Given the description of an element on the screen output the (x, y) to click on. 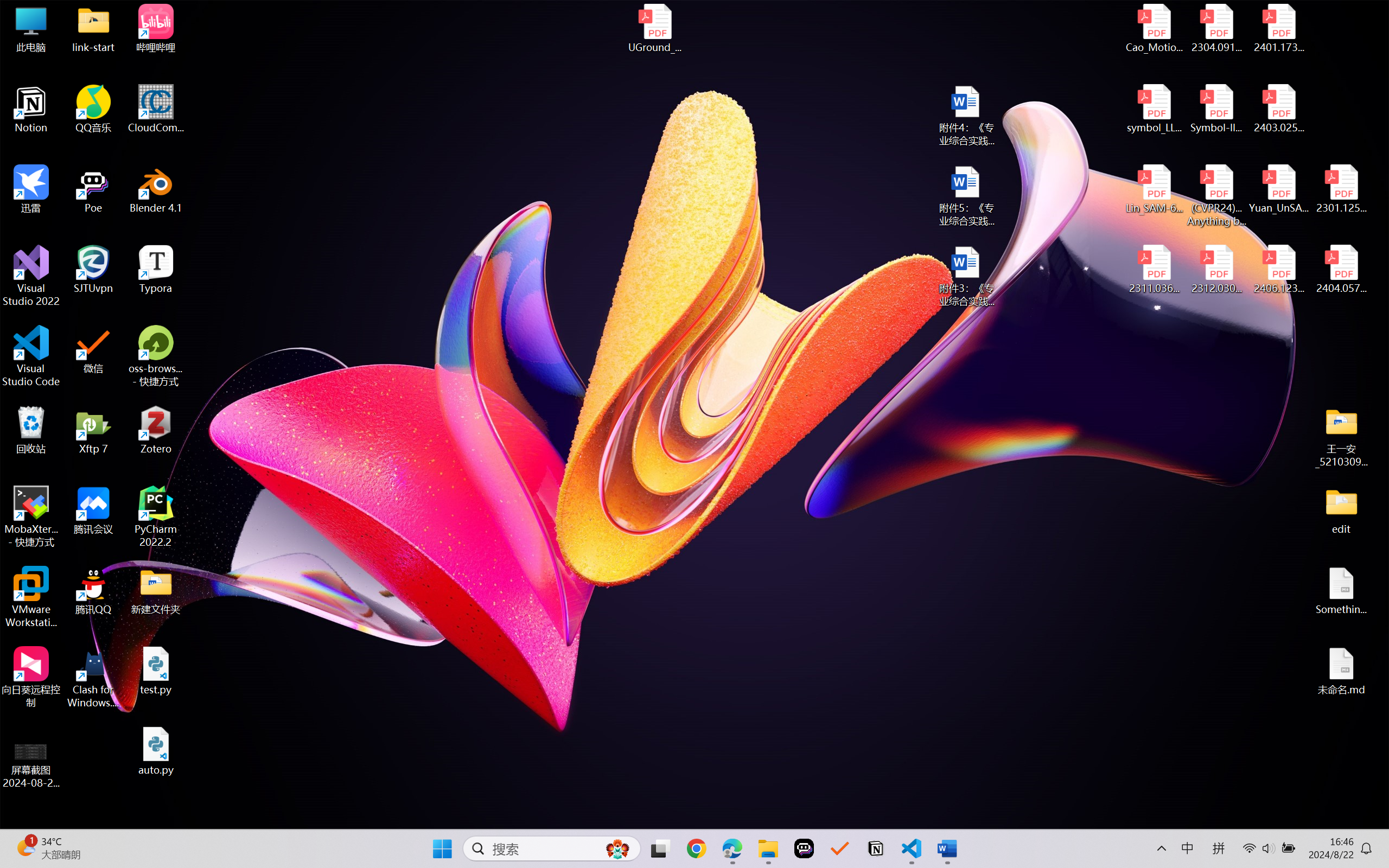
SJTUvpn (93, 269)
PyCharm 2022.2 (156, 516)
auto.py (156, 751)
2304.09121v3.pdf (1216, 28)
Typora (156, 269)
VMware Workstation Pro (31, 597)
Blender 4.1 (156, 189)
